Given the description of an element on the screen output the (x, y) to click on. 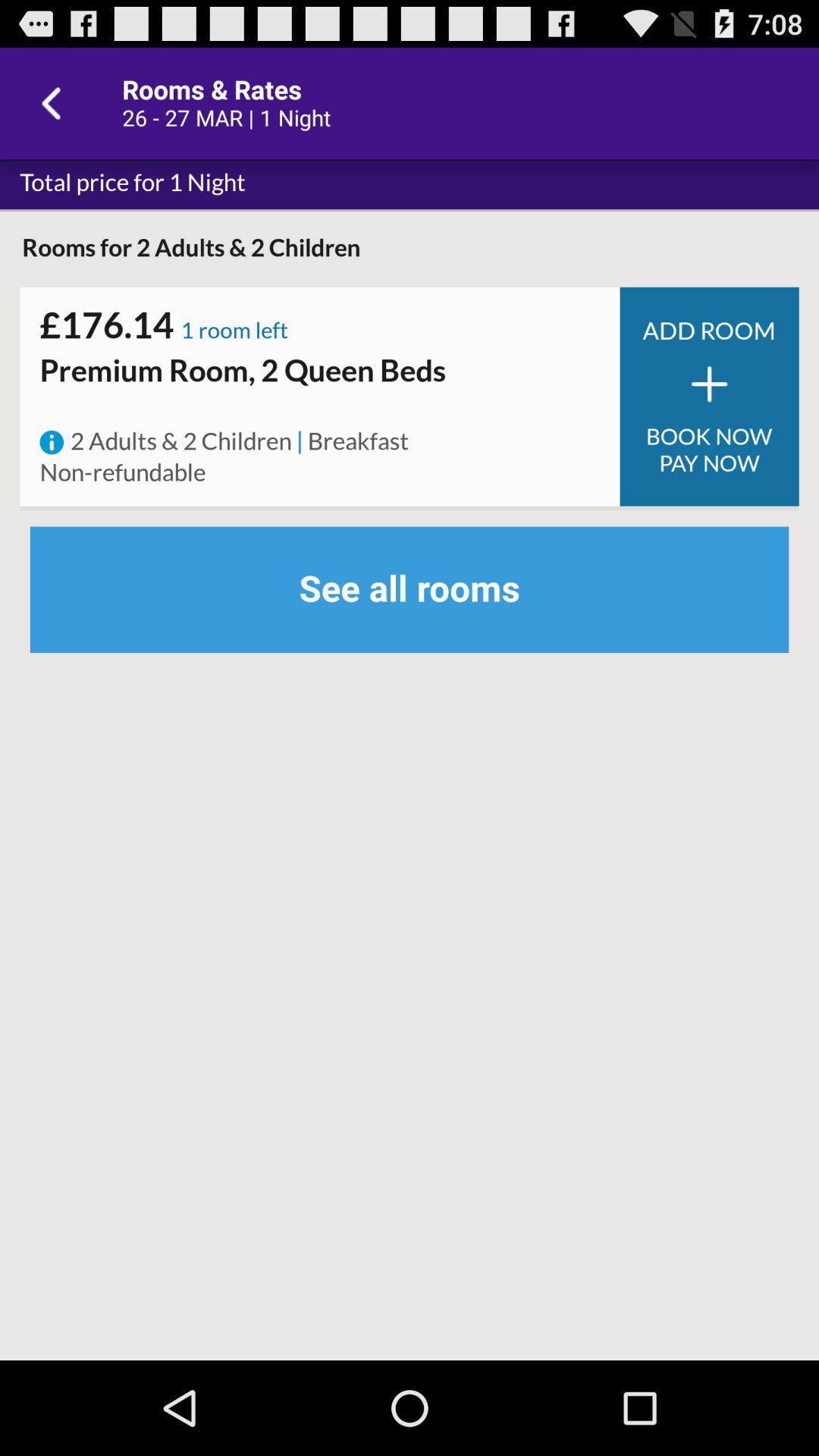
press breakfast icon (357, 442)
